Given the description of an element on the screen output the (x, y) to click on. 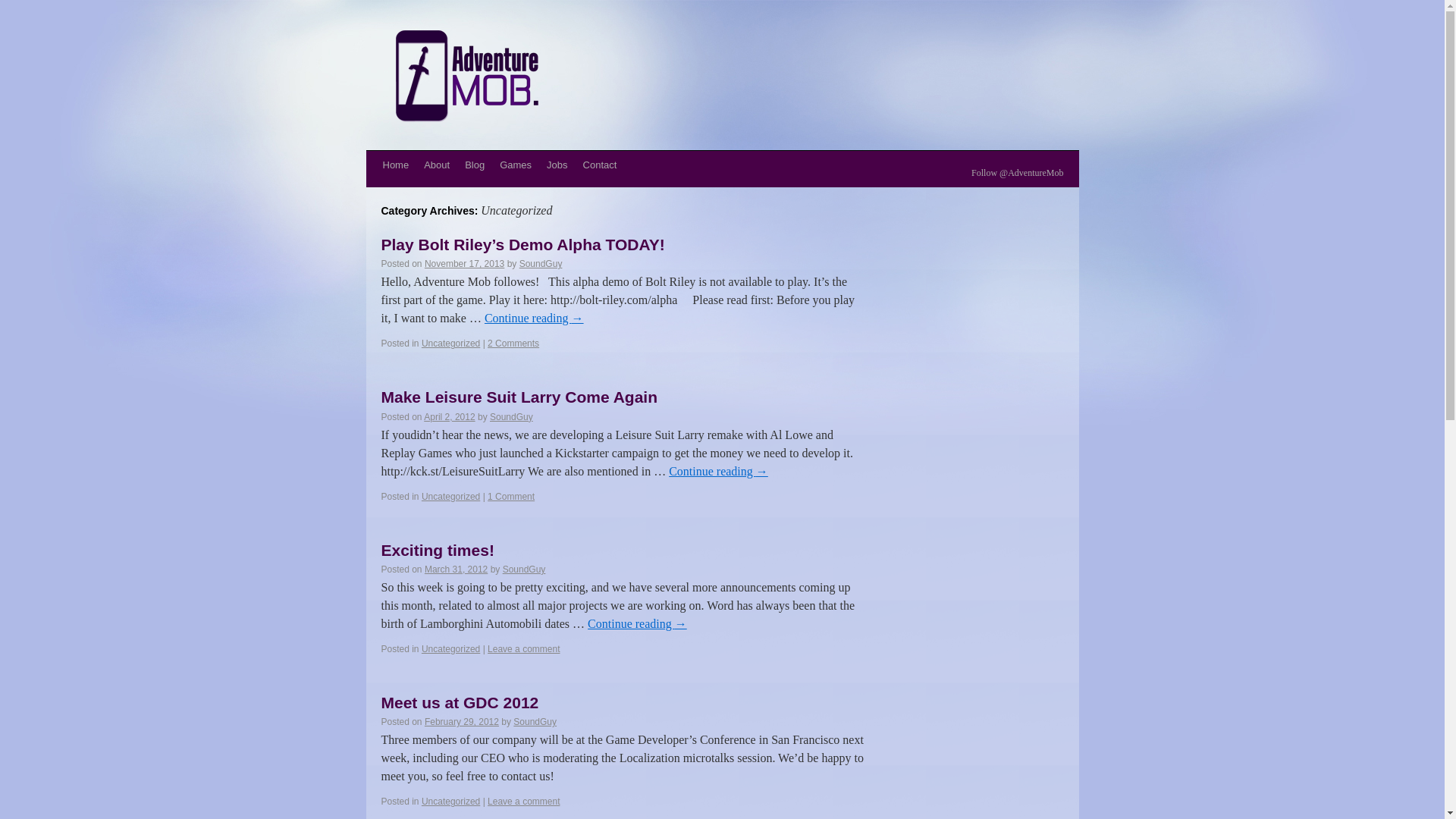
Contact (599, 164)
2 Comments (512, 343)
Permalink to Make Leisure Suit Larry Come Again (519, 396)
Games (515, 164)
12:18 am (462, 721)
View all posts by SoundGuy (540, 263)
November 17, 2013 (464, 263)
Make Leisure Suit Larry Come Again (519, 396)
Permalink to Meet us at GDC 2012 (459, 702)
Exciting times! (436, 549)
